Given the description of an element on the screen output the (x, y) to click on. 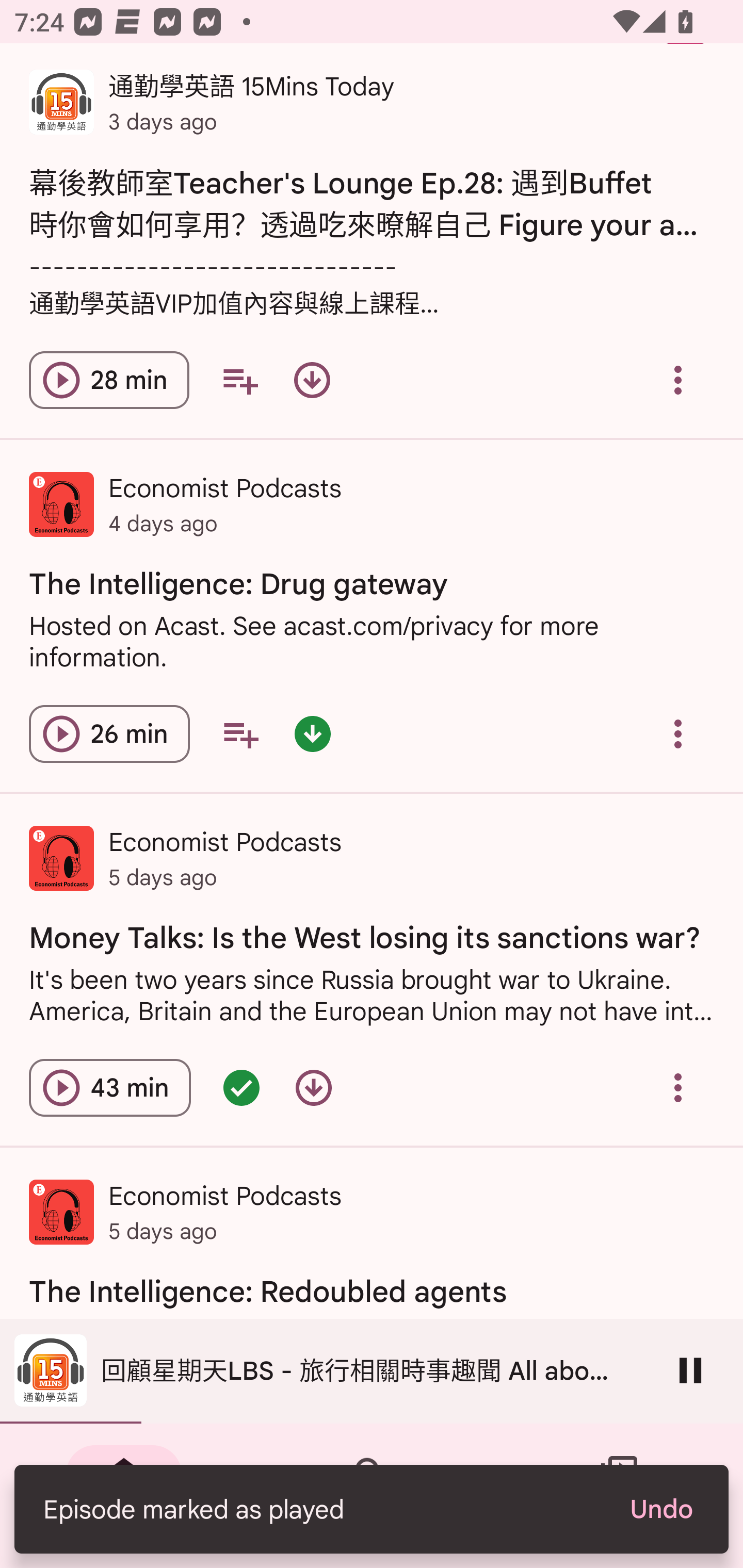
Add to your queue (239, 380)
Download episode (312, 380)
Overflow menu (677, 380)
Play episode The Intelligence: Drug gateway 26 min (109, 733)
Add to your queue (240, 733)
Episode downloaded - double tap for options (312, 733)
Overflow menu (677, 733)
Episode queued - double tap for options (241, 1087)
Download episode (313, 1087)
Overflow menu (677, 1087)
Pause (690, 1370)
Undo (660, 1509)
